Given the description of an element on the screen output the (x, y) to click on. 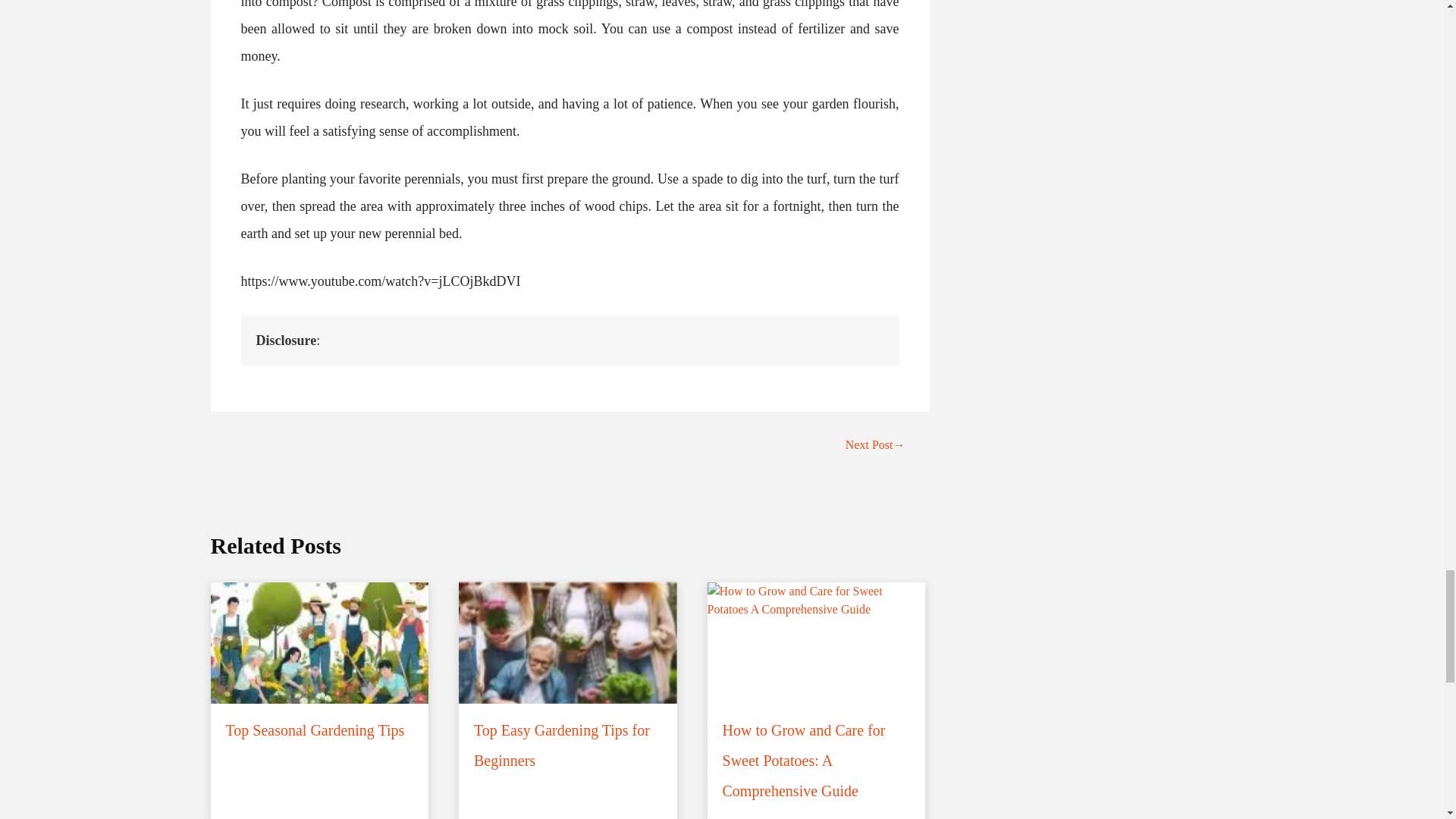
Top Easy Gardening Tips for Beginners (567, 686)
Top Seasonal Gardening Tips (320, 671)
Top Seasonal Gardening Tips (320, 671)
Top Easy Gardening Tips for Beginners (567, 686)
